Given the description of an element on the screen output the (x, y) to click on. 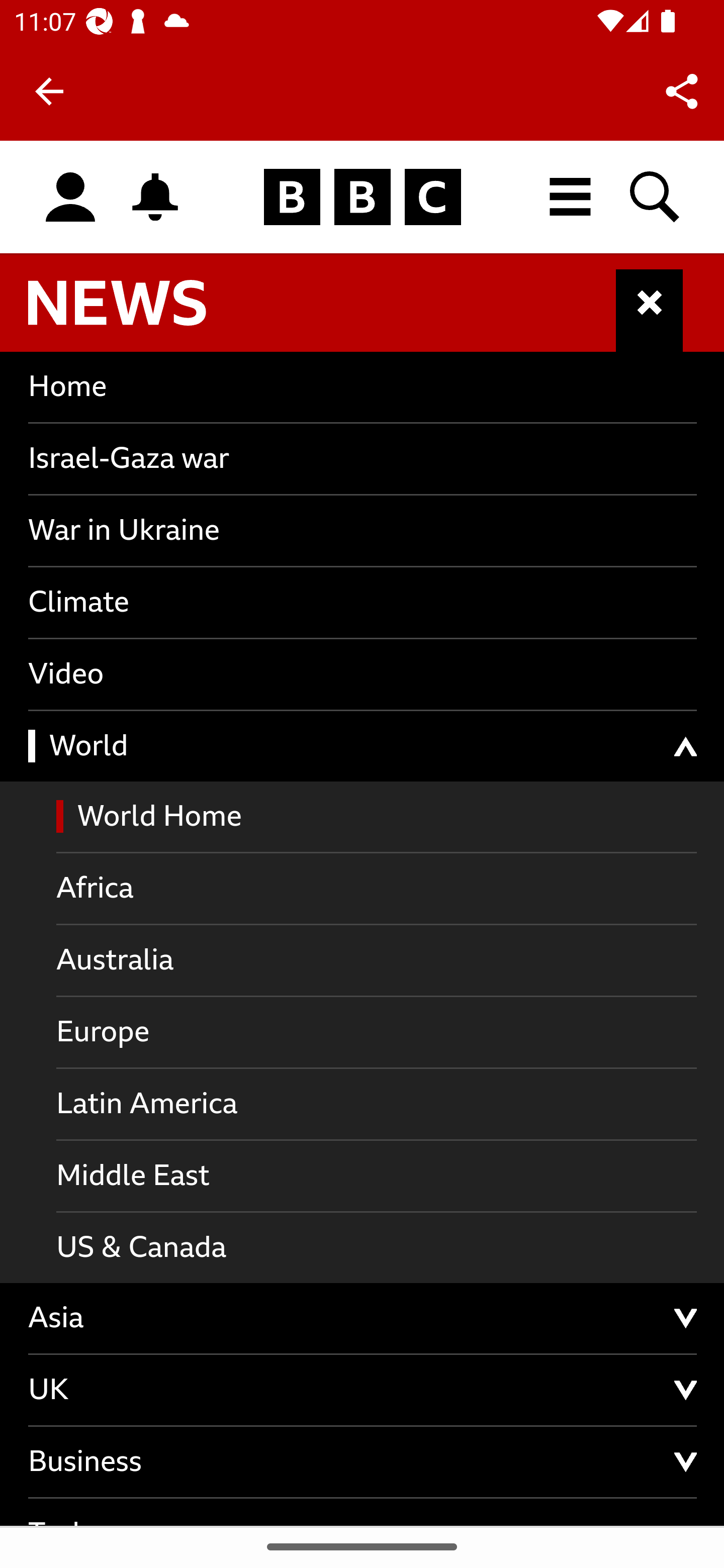
Back (49, 91)
Share (681, 90)
Notifications (155, 197)
All BBC destinations menu (570, 197)
Search BBC (655, 197)
Sign in (70, 198)
Homepage (361, 198)
Sections (650, 310)
BBC News (133, 310)
Home (363, 386)
Israel-Gaza war (363, 457)
War in Ukraine (363, 529)
Climate (363, 602)
Video (363, 674)
World selected (363, 746)
World selected (377, 817)
Africa (377, 889)
Australia (377, 961)
Europe (377, 1032)
Latin America (377, 1104)
Middle East (377, 1176)
US & Canada (377, 1248)
Asia (363, 1318)
UK (363, 1390)
Business (363, 1462)
